Given the description of an element on the screen output the (x, y) to click on. 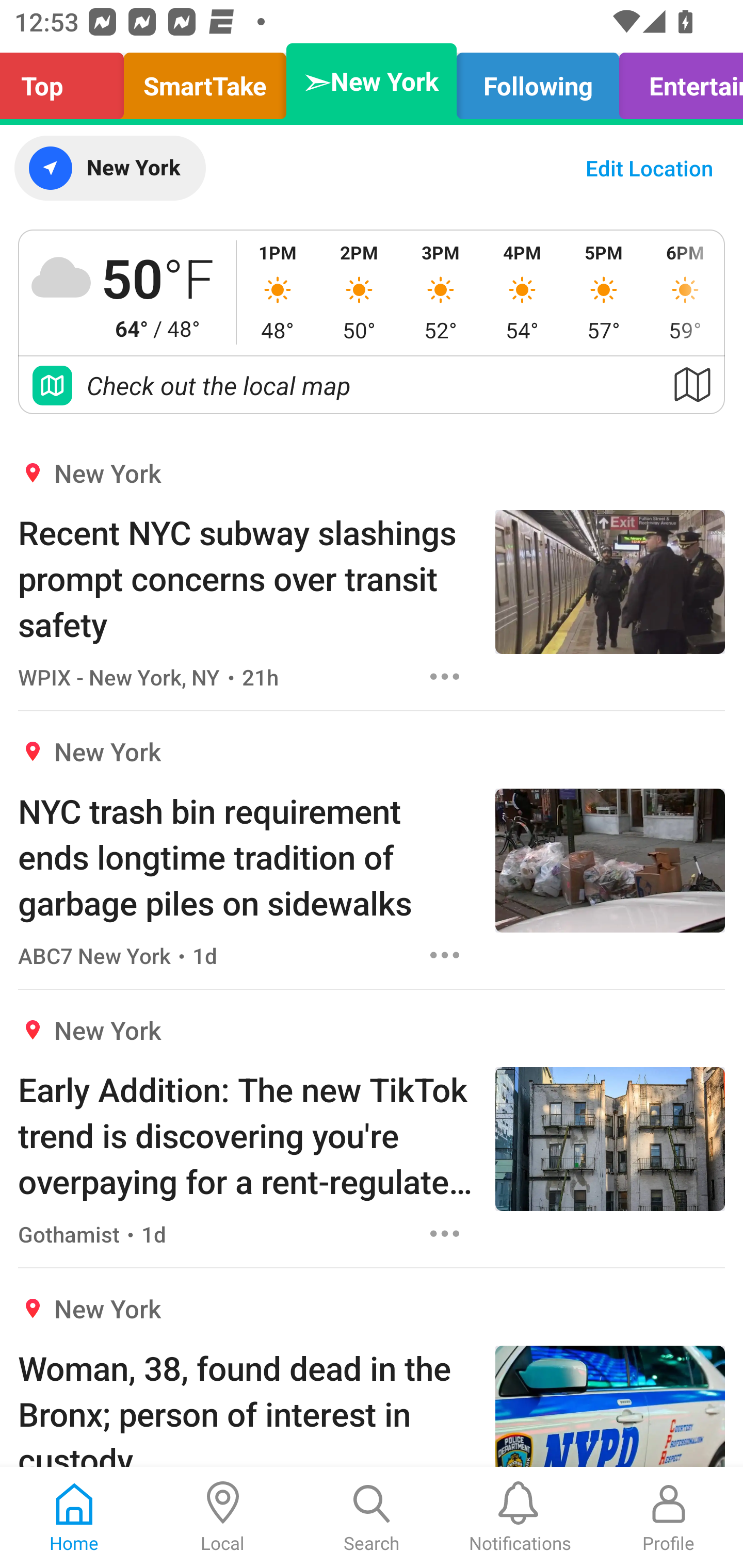
Top (67, 81)
SmartTake (204, 81)
➣New York (371, 81)
Following (537, 81)
New York (109, 168)
Edit Location (648, 168)
1PM 48° (277, 291)
2PM 50° (358, 291)
3PM 52° (440, 291)
4PM 54° (522, 291)
5PM 57° (603, 291)
6PM 59° (684, 291)
Check out the local map (371, 384)
Options (444, 676)
Options (444, 954)
Options (444, 1233)
Local (222, 1517)
Search (371, 1517)
Notifications (519, 1517)
Profile (668, 1517)
